Given the description of an element on the screen output the (x, y) to click on. 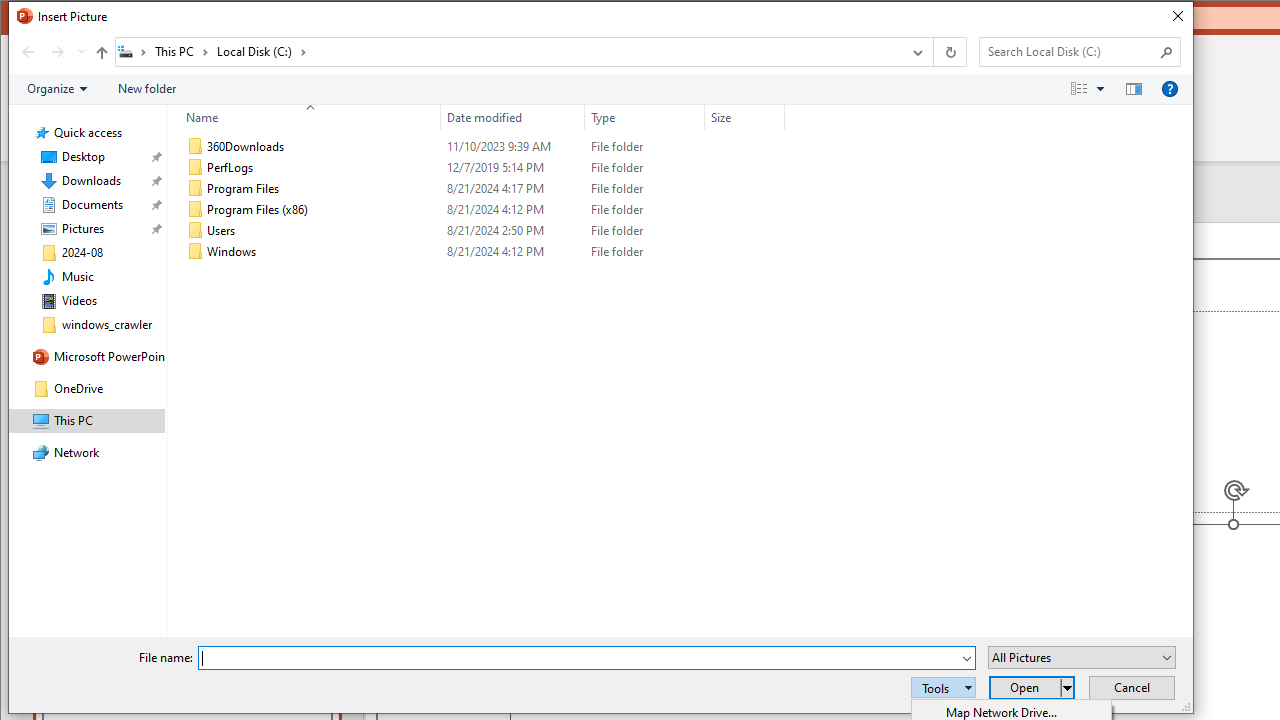
Tools (943, 687)
Type (644, 251)
PerfLogs (481, 167)
Program Files (481, 188)
Navigation buttons (50, 51)
Recent locations (80, 51)
Local Disk (C:) (261, 51)
Command Module (600, 89)
Organize (56, 89)
Forward (Alt + Right Arrow) (57, 51)
360Downloads (481, 146)
Up to "This PC" (Alt + Up Arrow) (101, 52)
Class: UIImage (195, 251)
Views (1092, 89)
